Given the description of an element on the screen output the (x, y) to click on. 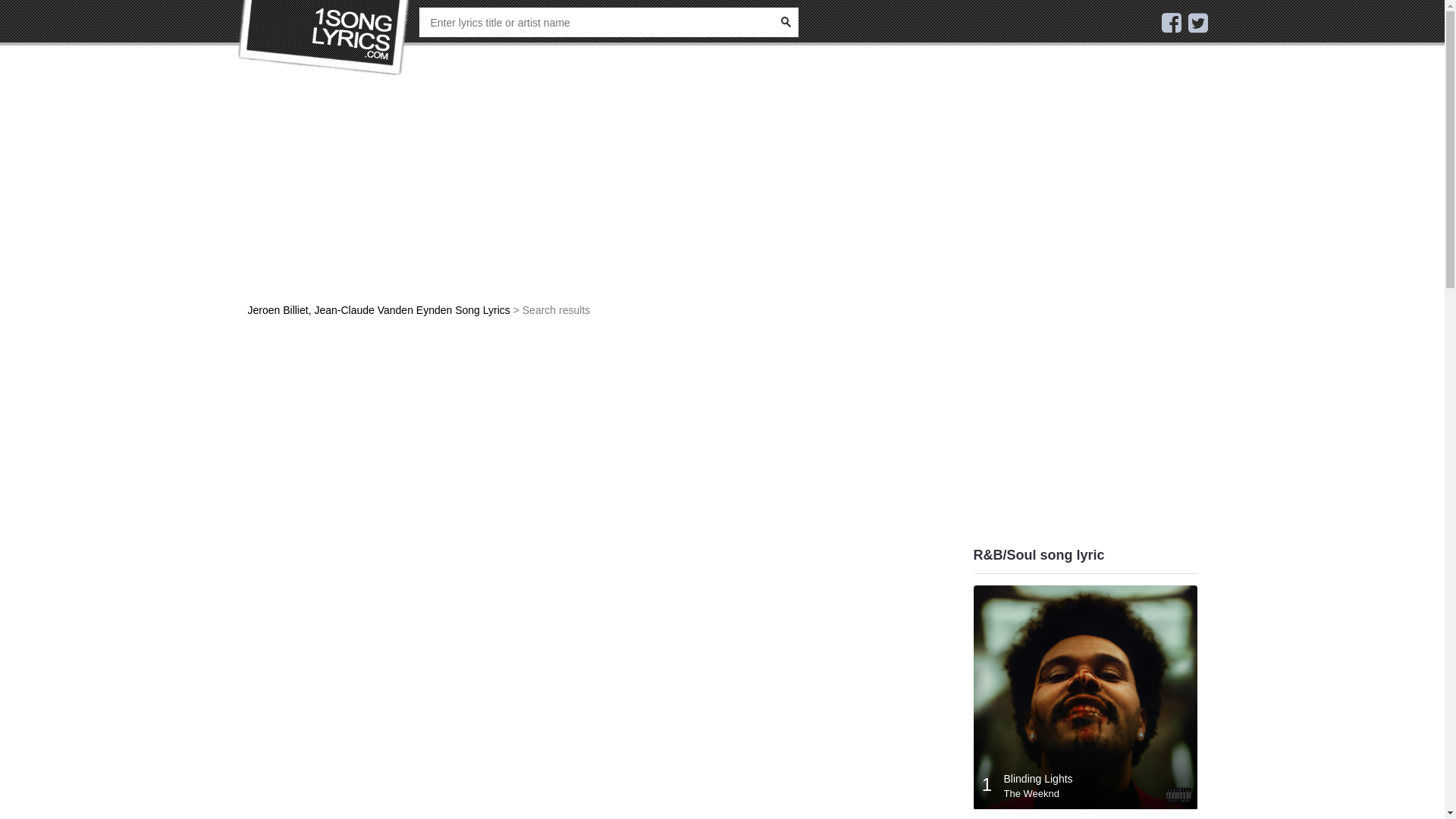
The Weeknd Element type: text (1031, 793)
Advertisement Element type: hover (600, 439)
Advertisement Element type: hover (1085, 318)
Advertisement Element type: hover (600, 197)
1 Song Lyrics Element type: hover (323, 37)
Search Element type: text (784, 22)
R&B/Soul song lyric Element type: text (1038, 554)
Blinding Lights Element type: text (1038, 778)
